Given the description of an element on the screen output the (x, y) to click on. 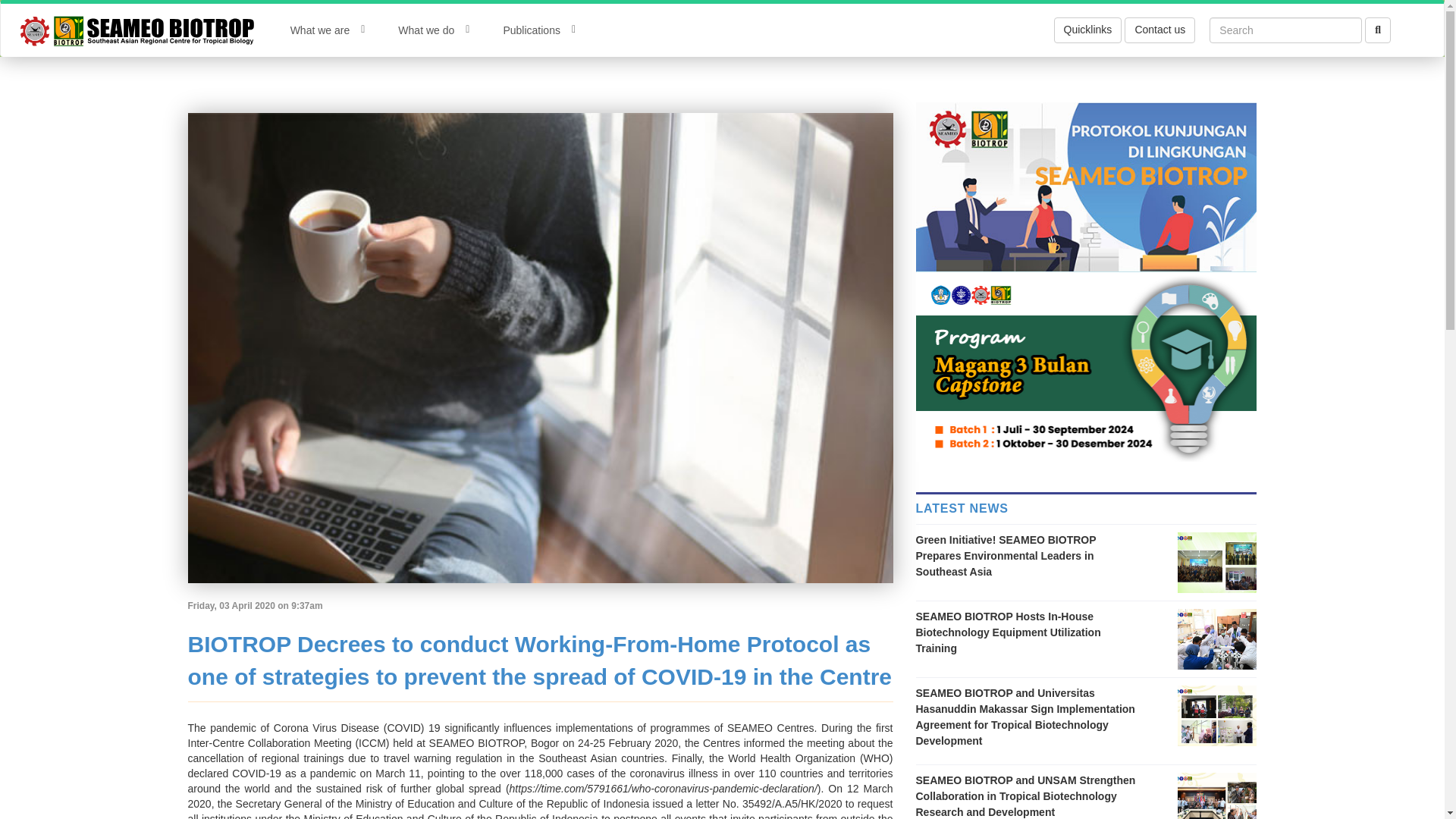
Publications (539, 30)
What we are (327, 30)
What we do (433, 30)
